Given the description of an element on the screen output the (x, y) to click on. 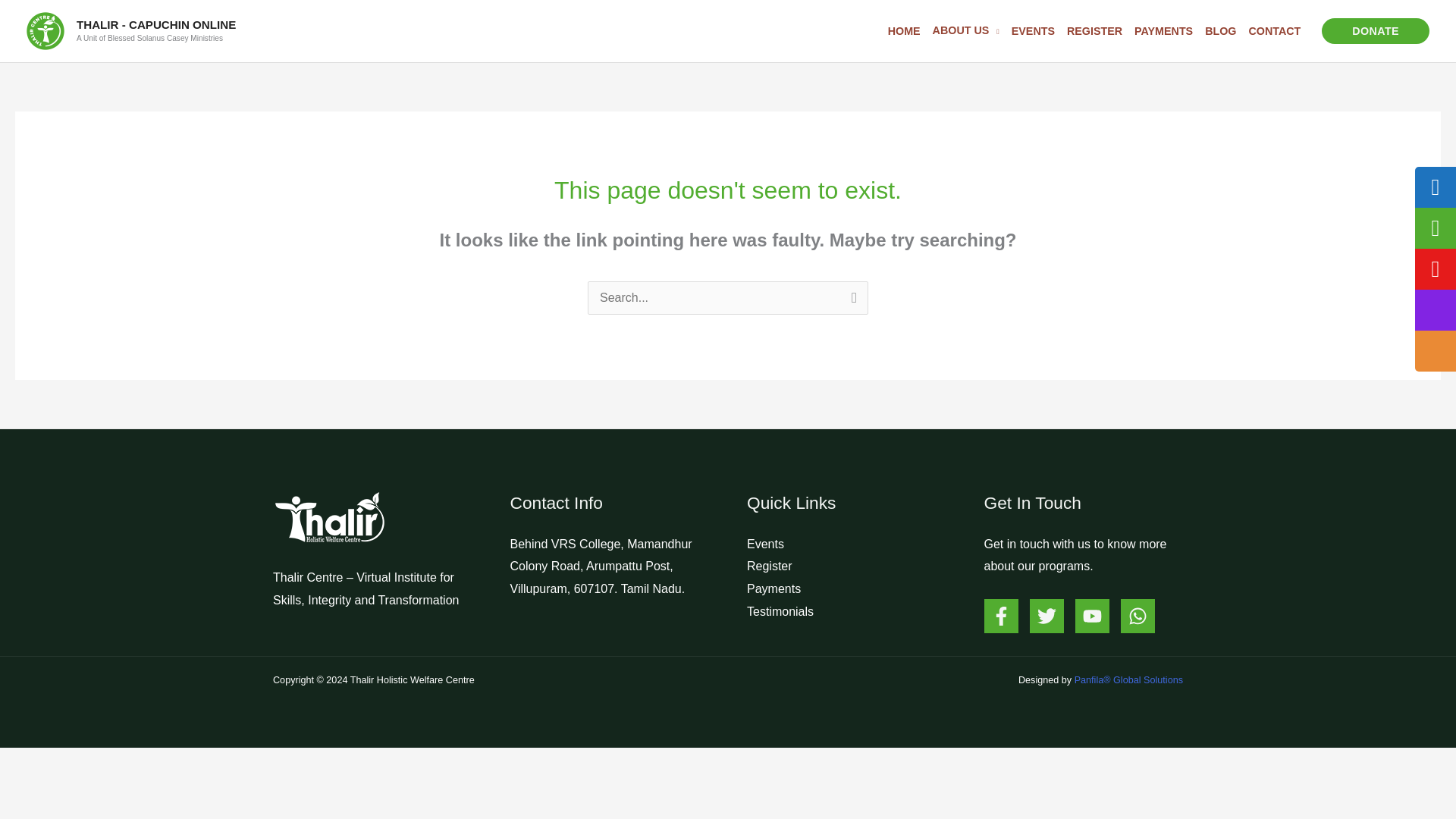
HOME (904, 31)
EVENTS (1033, 31)
ABOUT US (966, 31)
REGISTER (1094, 31)
BLOG (1219, 31)
DONATE (1375, 31)
THALIR - CAPUCHIN ONLINE (156, 24)
PAYMENTS (1163, 31)
CONTACT (1273, 31)
